Given the description of an element on the screen output the (x, y) to click on. 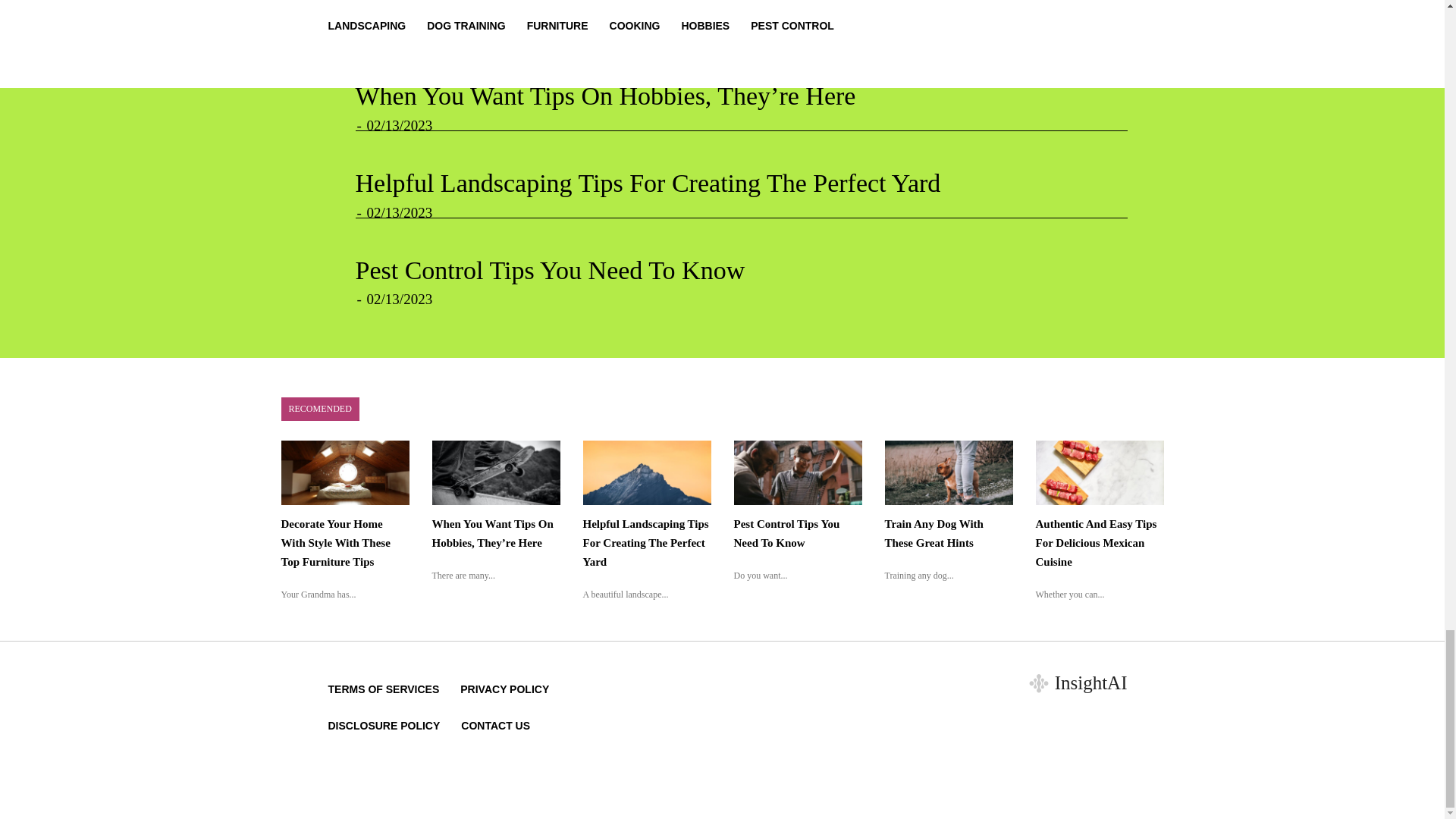
Pest Control Tips You Need To Know (549, 270)
Helpful Landscaping Tips For Creating The Perfect Yard (647, 182)
Decorate Your Home With Style With These Top Furniture Tips (335, 542)
Decorate Your Home With Style With These Top Furniture Tips (683, 11)
Decorate Your Home With Style With These Top Furniture Tips (683, 11)
Helpful Landscaping Tips For Creating The Perfect Yard (647, 182)
